Given the description of an element on the screen output the (x, y) to click on. 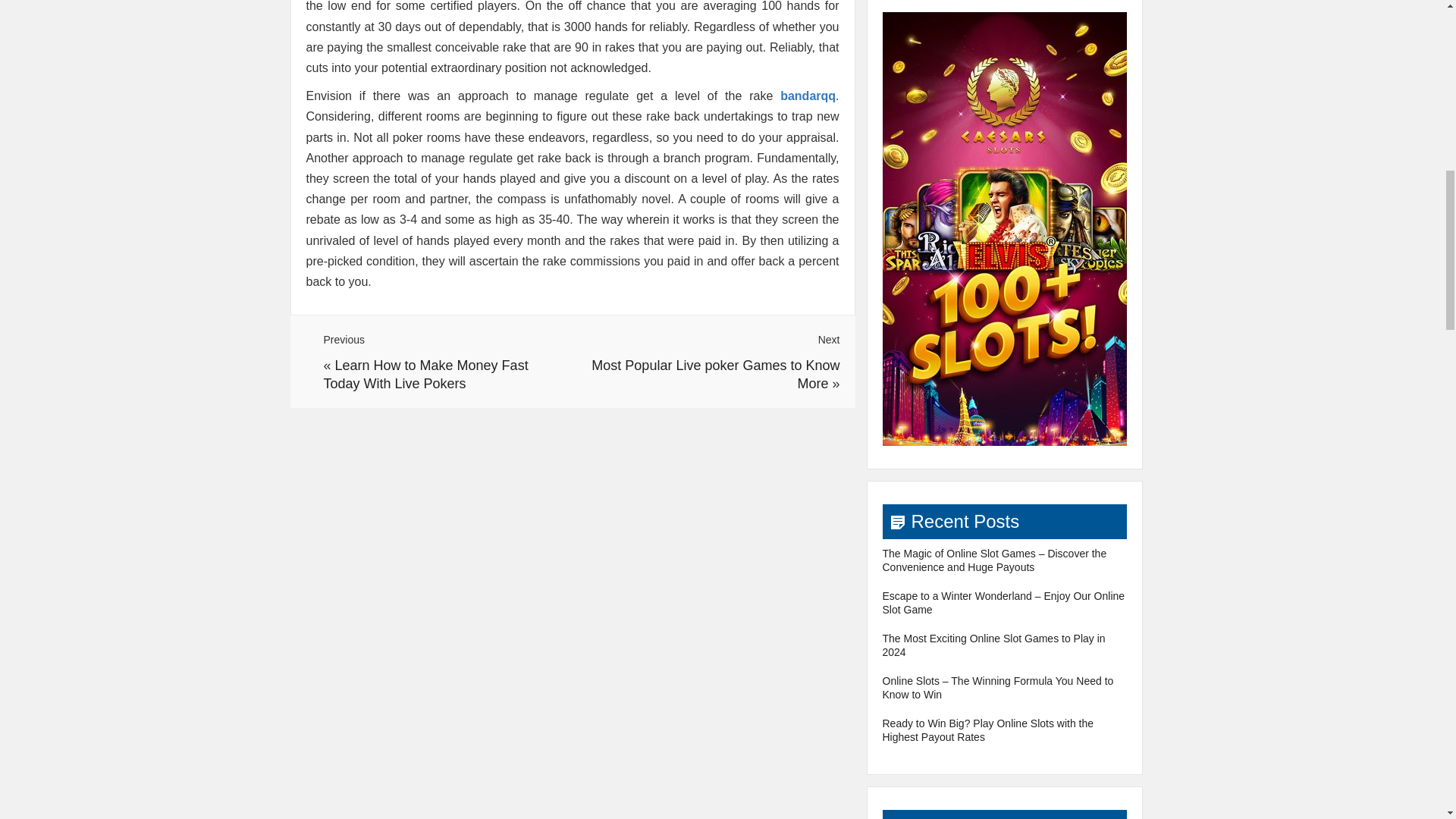
bandarqq (807, 95)
The Most Exciting Online Slot Games to Play in 2024 (993, 645)
Most Popular Live poker Games to Know More (715, 374)
Learn How to Make Money Fast Today With Live Pokers (425, 374)
